Given the description of an element on the screen output the (x, y) to click on. 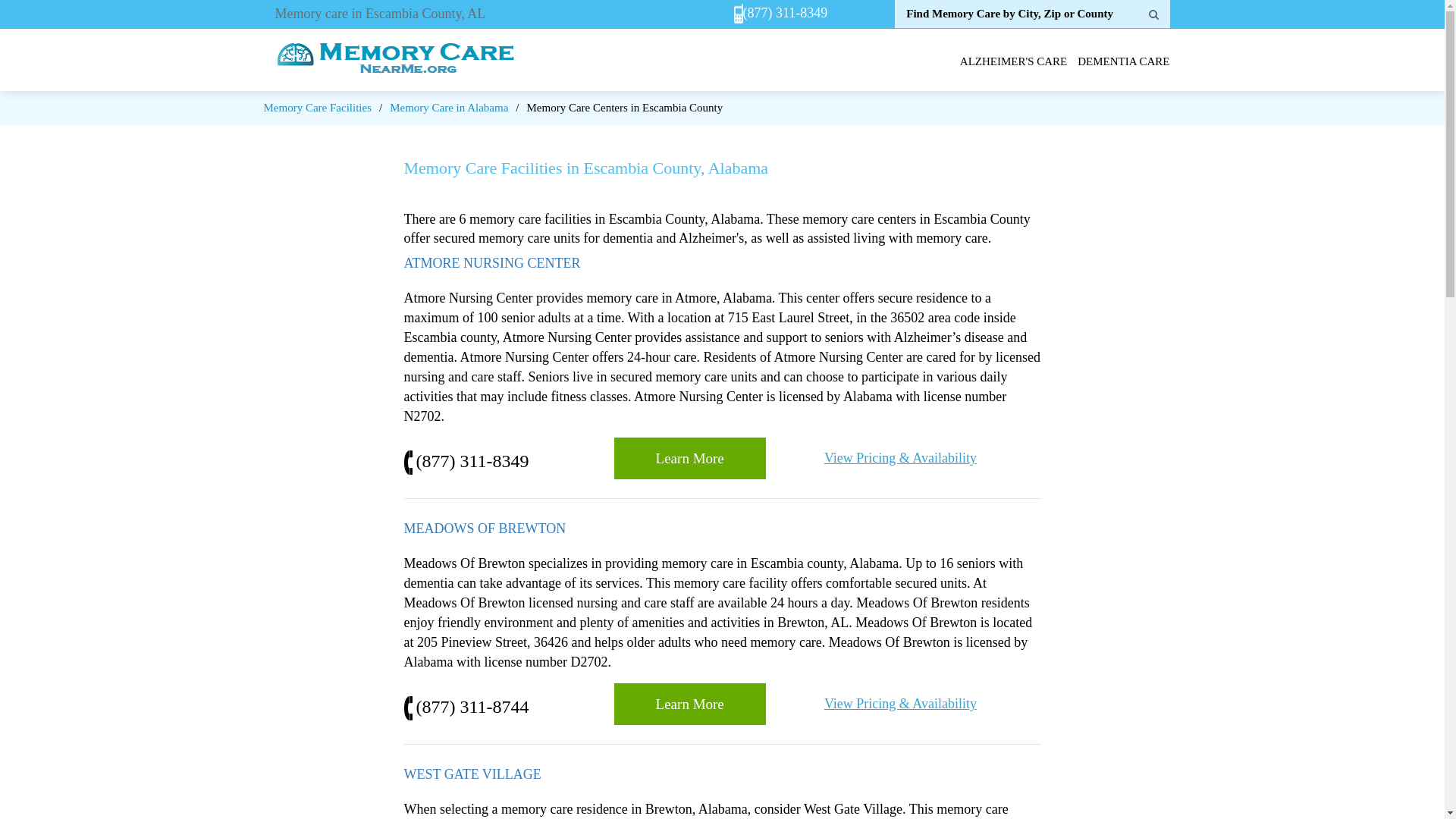
Memory Care Facilities (317, 107)
Learn More (689, 458)
Learn More (689, 703)
Memory Care in Alabama (449, 107)
DEMENTIA CARE (1123, 61)
Learn More (689, 458)
ALZHEIMER'S CARE (1013, 61)
Memory care in Alabama (449, 107)
Learn More (689, 703)
Memory Care Facilities (317, 107)
